Given the description of an element on the screen output the (x, y) to click on. 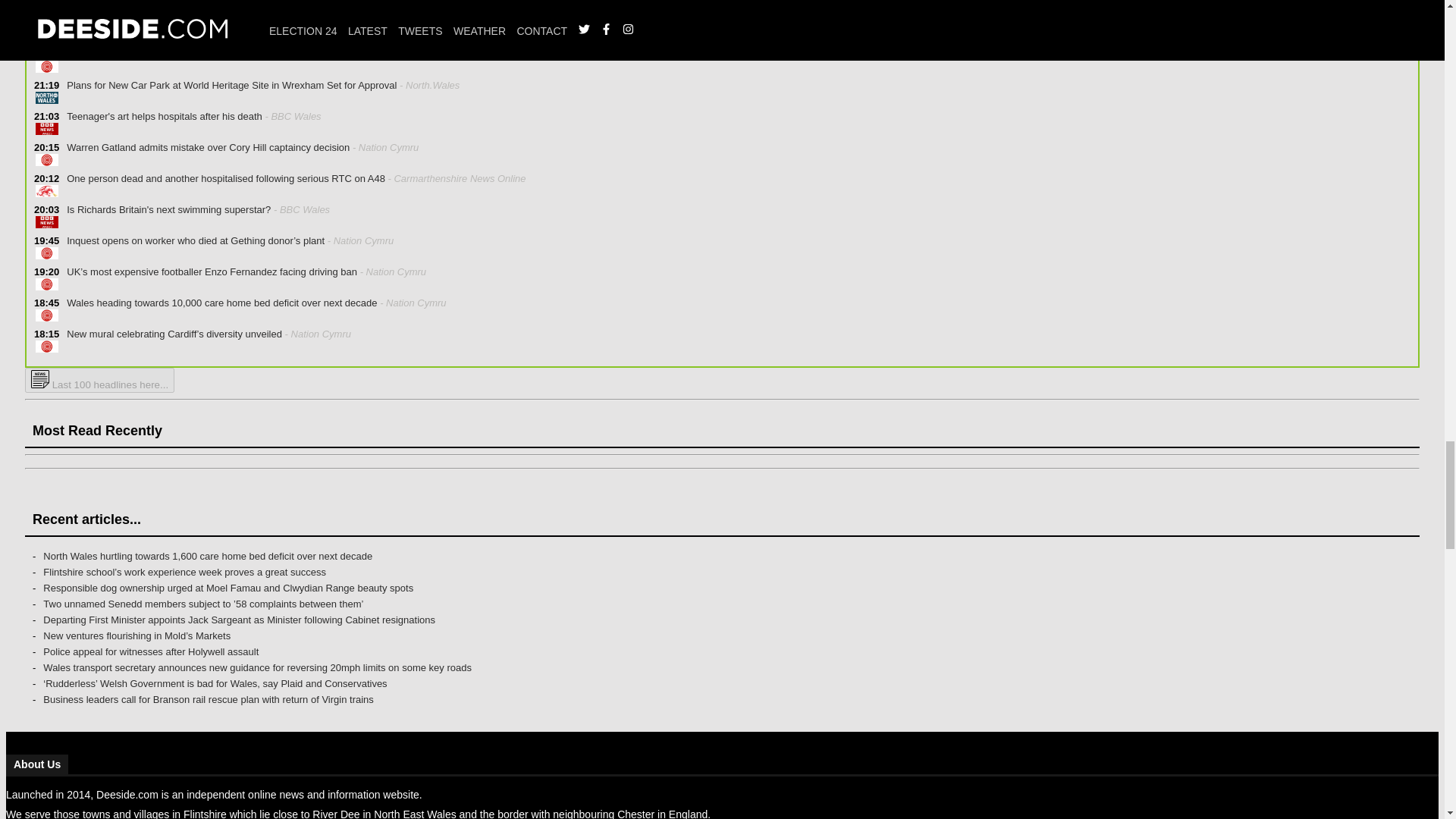
Teenager's art helps hospitals after his death - BBC Wales (189, 123)
